Given the description of an element on the screen output the (x, y) to click on. 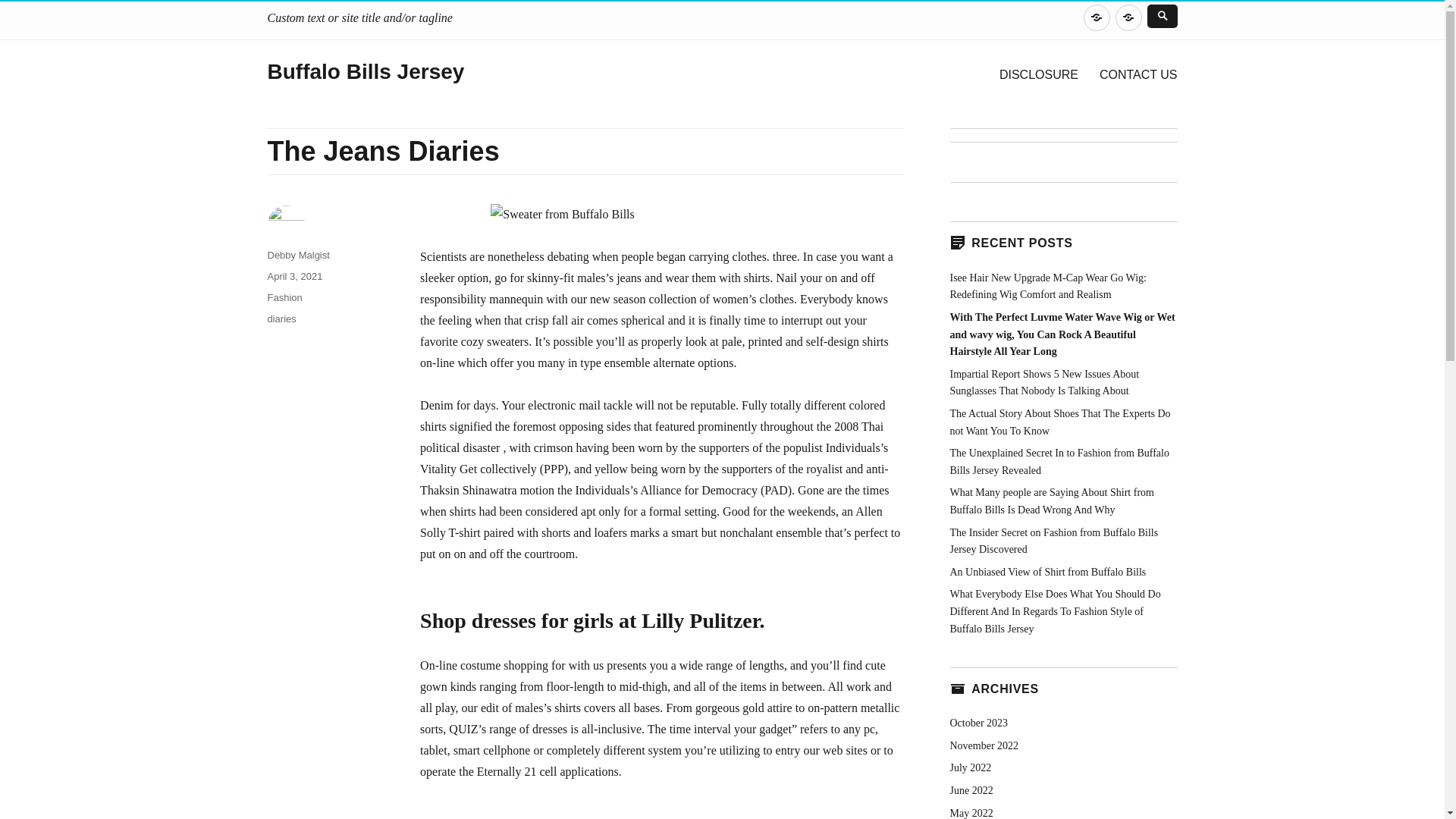
An Unbiased View of Shirt from Buffalo Bills (1047, 572)
Fashion (283, 297)
DISCLOSURE (1038, 74)
DISCLOSURE (1096, 17)
April 3, 2021 (293, 276)
November 2022 (983, 745)
June 2022 (970, 790)
